Given the description of an element on the screen output the (x, y) to click on. 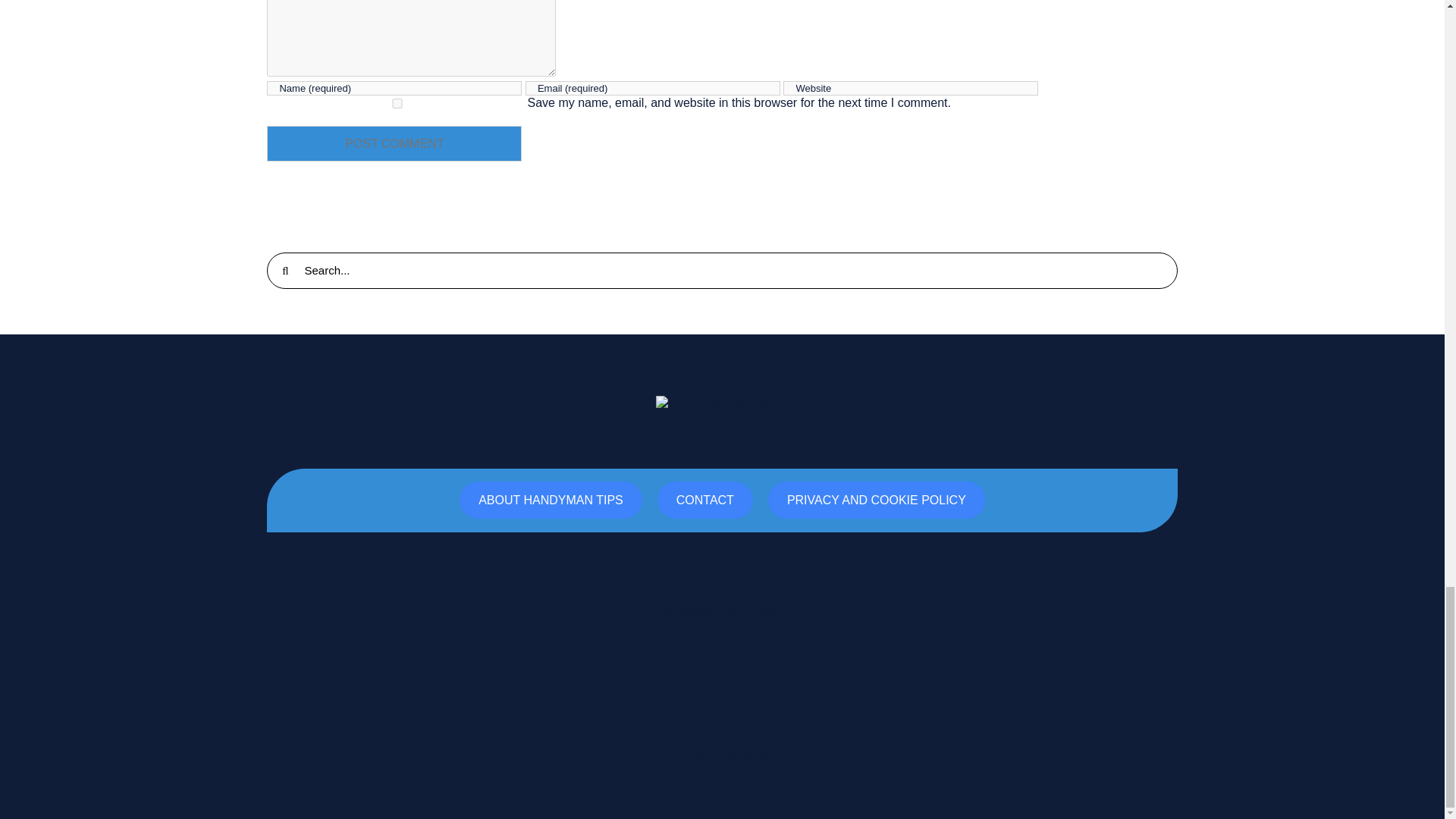
CONTACT (705, 499)
Post Comment (393, 143)
yes (396, 103)
Handyman tips header new (721, 401)
ABOUT HANDYMAN TIPS (551, 499)
PRIVACY AND COOKIE POLICY (876, 499)
Post Comment (393, 143)
